Given the description of an element on the screen output the (x, y) to click on. 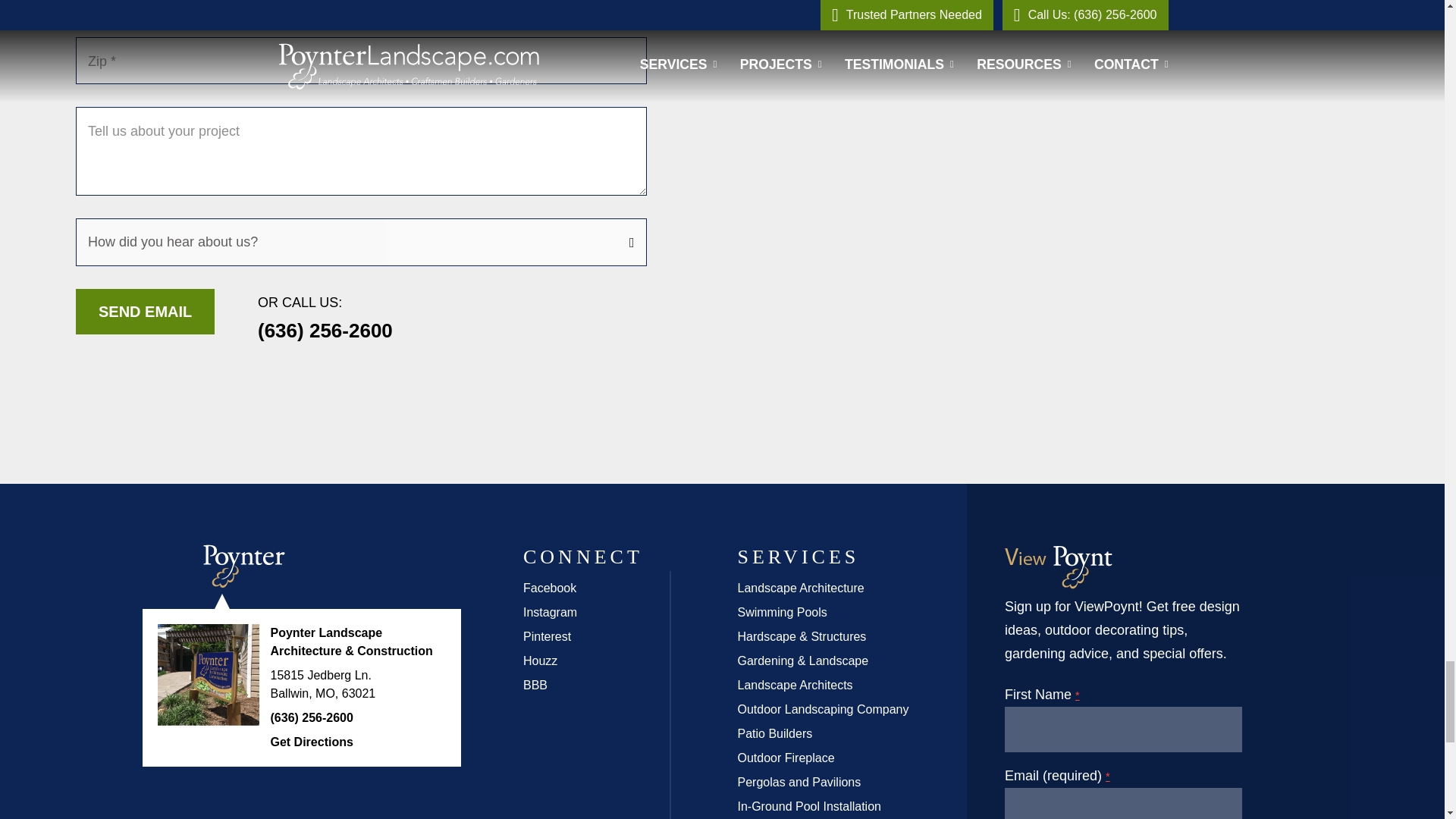
Send Email (144, 311)
required (1077, 695)
required (1107, 776)
